Given the description of an element on the screen output the (x, y) to click on. 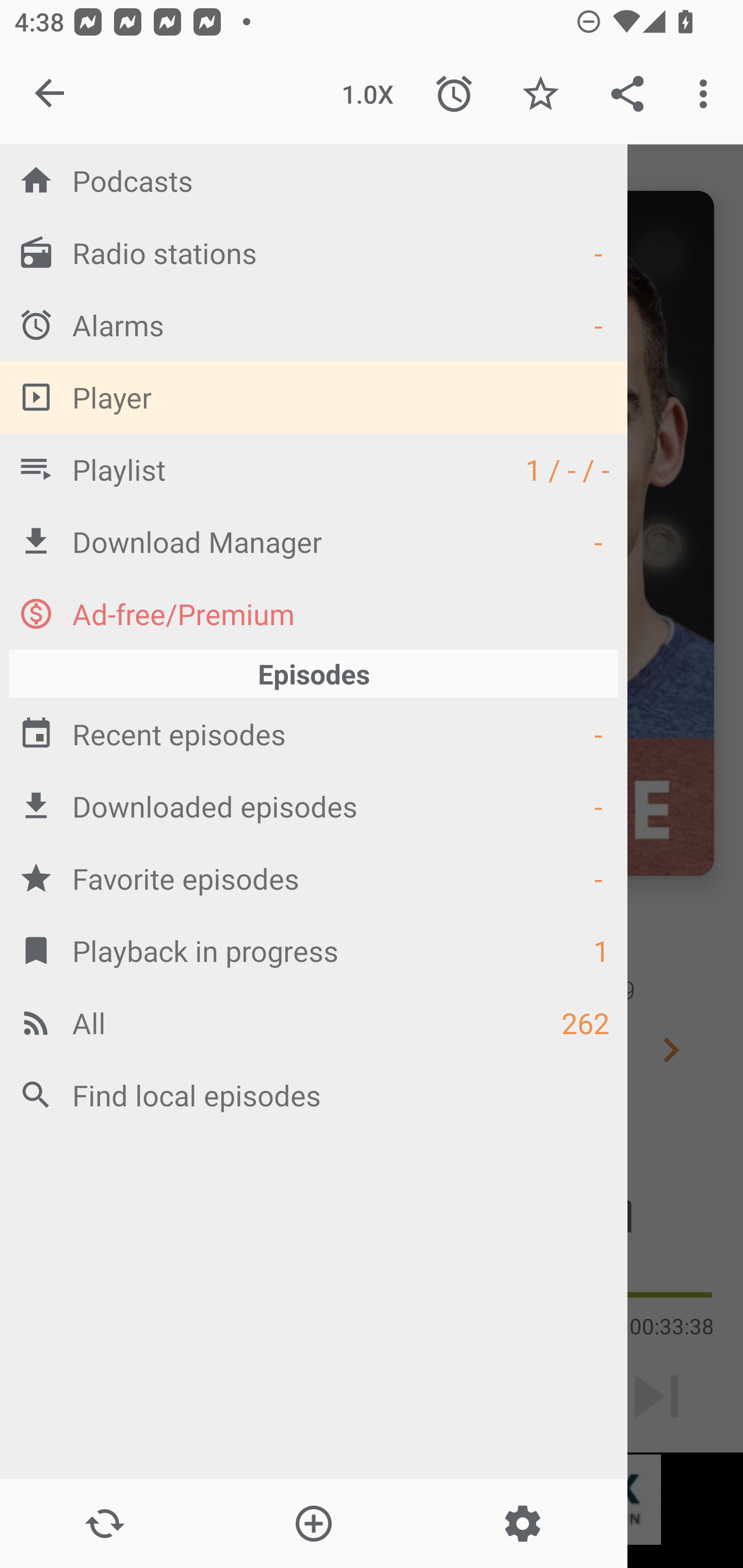
Close navigation sidebar (50, 93)
1.0X (366, 93)
Sleep Timer (453, 93)
Favorite (540, 93)
Share (626, 93)
More options (706, 93)
Podcasts (313, 180)
Radio stations  -  (313, 252)
Alarms  -  (313, 324)
Player (313, 396)
Playlist 1 / - / - (313, 468)
Download Manager  -  (313, 540)
Ad-free/Premium (313, 613)
Recent episodes  -  (313, 733)
Downloaded episodes  -  (313, 805)
Favorite episodes  -  (313, 878)
Playback in progress 1 (313, 950)
All 262 (313, 1022)
Find local episodes (313, 1094)
Update (104, 1523)
Add new Podcast (312, 1523)
Settings (522, 1523)
